Given the description of an element on the screen output the (x, y) to click on. 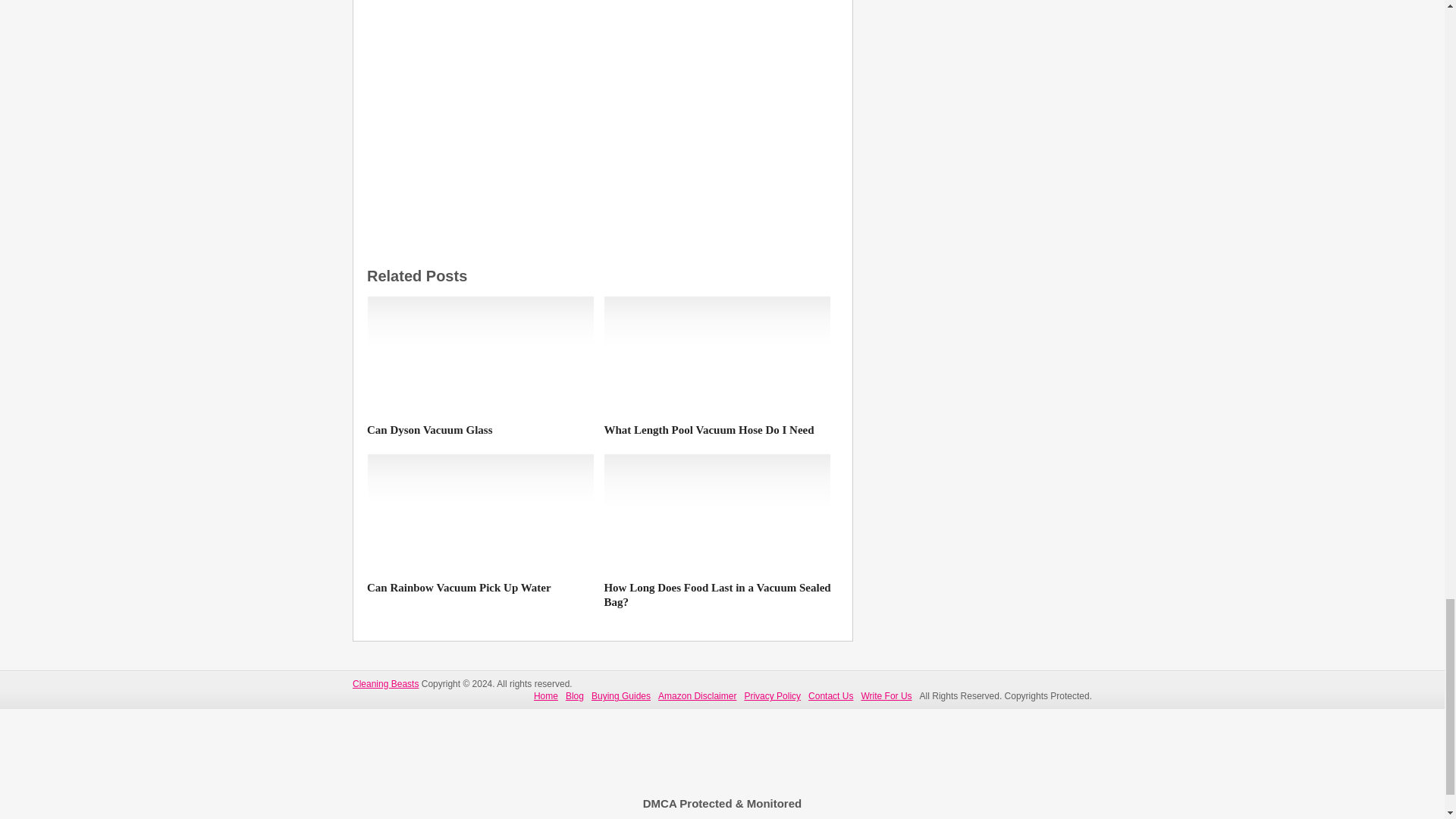
Can Rainbow Vacuum Pick Up Water (480, 513)
What Length Pool Vacuum Hose Do I Need (717, 355)
Can Dyson Vacuum Glass (480, 430)
Can Dyson Vacuum Glass (480, 355)
What Length Pool Vacuum Hose Do I Need (717, 430)
How to clean hair stuck under your vacuum (601, 92)
